Given the description of an element on the screen output the (x, y) to click on. 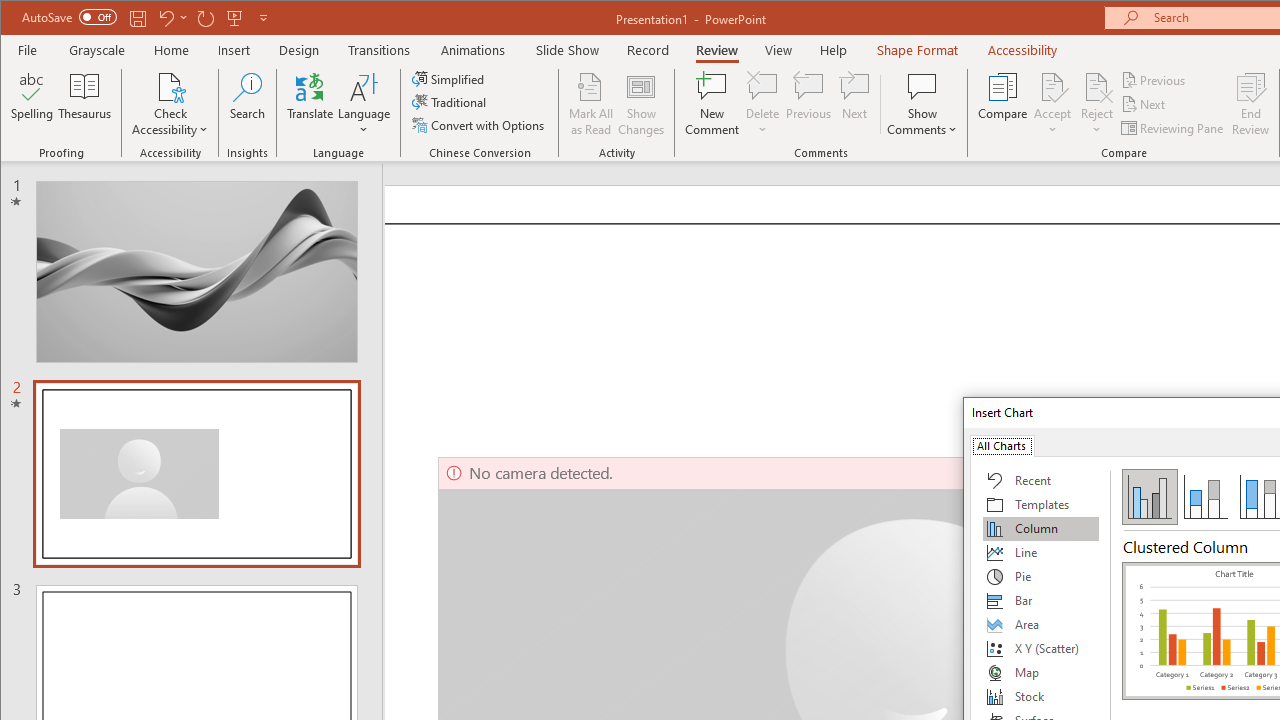
Stock (1041, 696)
Thesaurus... (84, 104)
Simplified (450, 78)
Translate (310, 104)
Mark All as Read (591, 104)
New Comment (712, 104)
Templates (1041, 504)
Bar (1041, 600)
Compare (1002, 104)
